Given the description of an element on the screen output the (x, y) to click on. 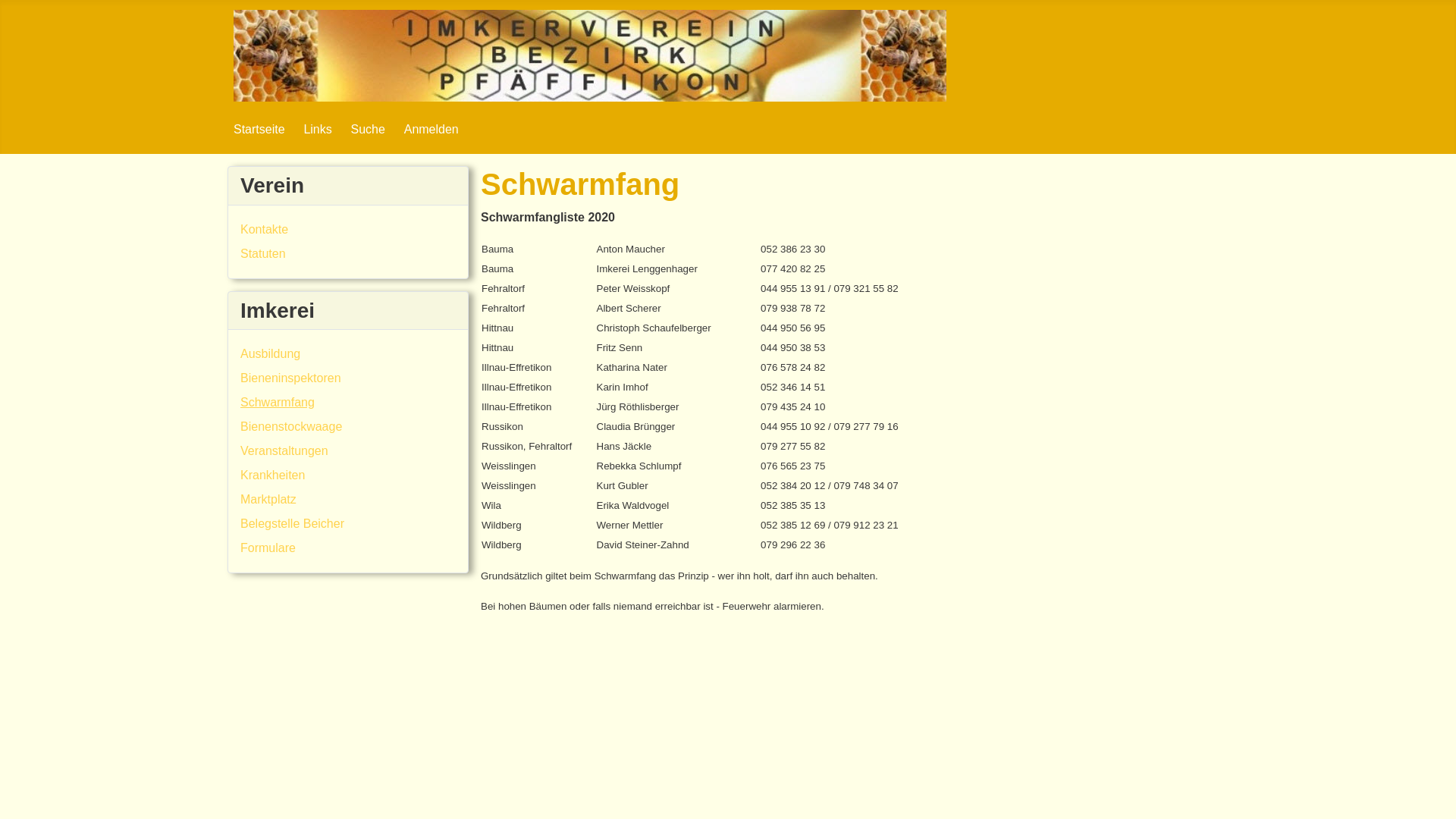
Statuten Element type: text (262, 253)
Bieneninspektoren Element type: text (290, 377)
Links Element type: text (317, 128)
Formulare Element type: text (267, 547)
Kontakte Element type: text (264, 228)
Ausbildung Element type: text (270, 353)
Krankheiten Element type: text (272, 474)
Anmelden Element type: text (431, 128)
Startseite Element type: text (259, 128)
Bienenstockwaage Element type: text (291, 426)
Schwarmfang Element type: text (277, 401)
Marktplatz Element type: text (268, 498)
Suche Element type: text (368, 128)
Veranstaltungen Element type: text (284, 450)
Belegstelle Beicher Element type: text (292, 523)
